Given the description of an element on the screen output the (x, y) to click on. 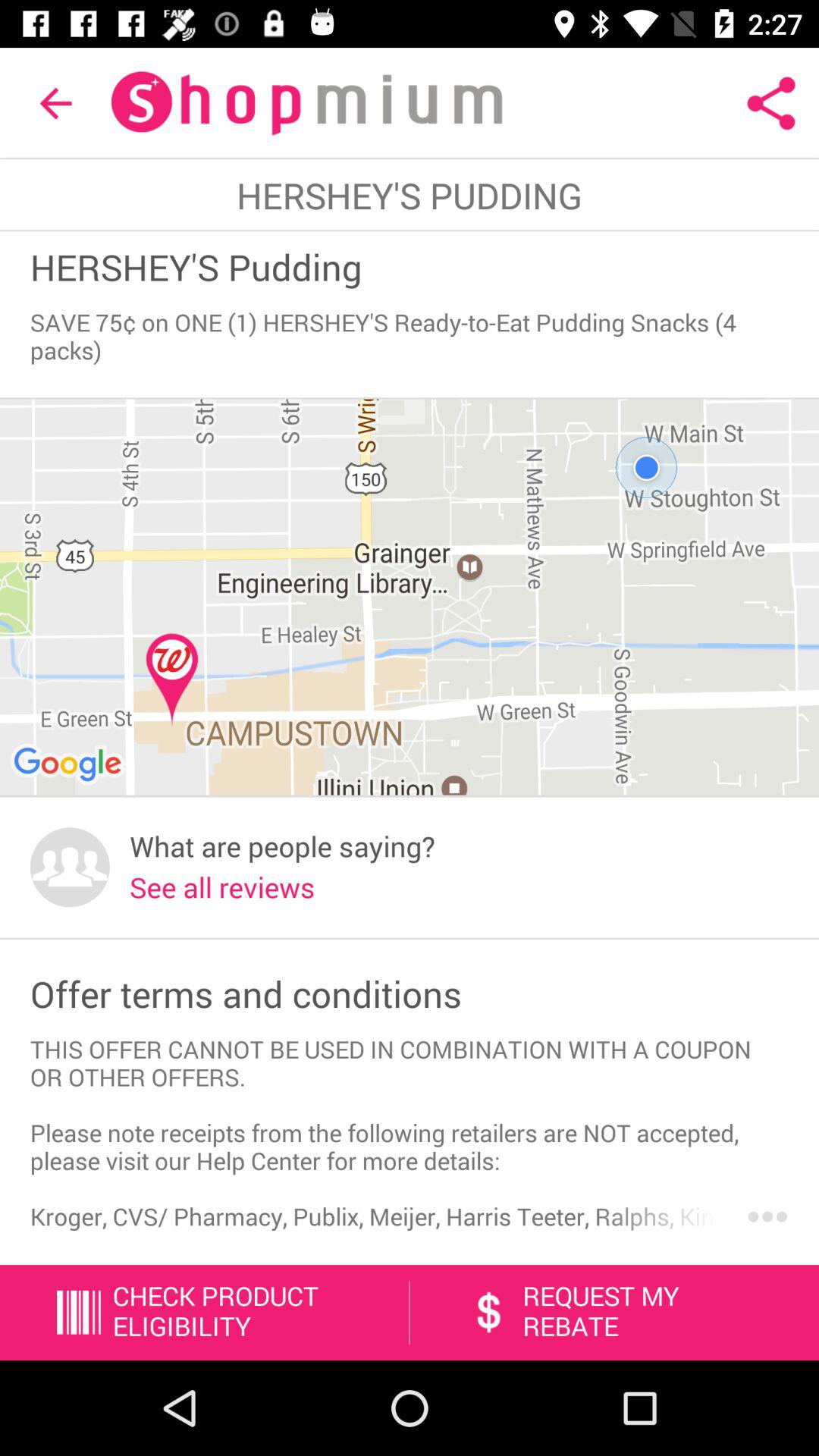
select the  symbol which is before the text request my rebate (488, 1312)
